Given the description of an element on the screen output the (x, y) to click on. 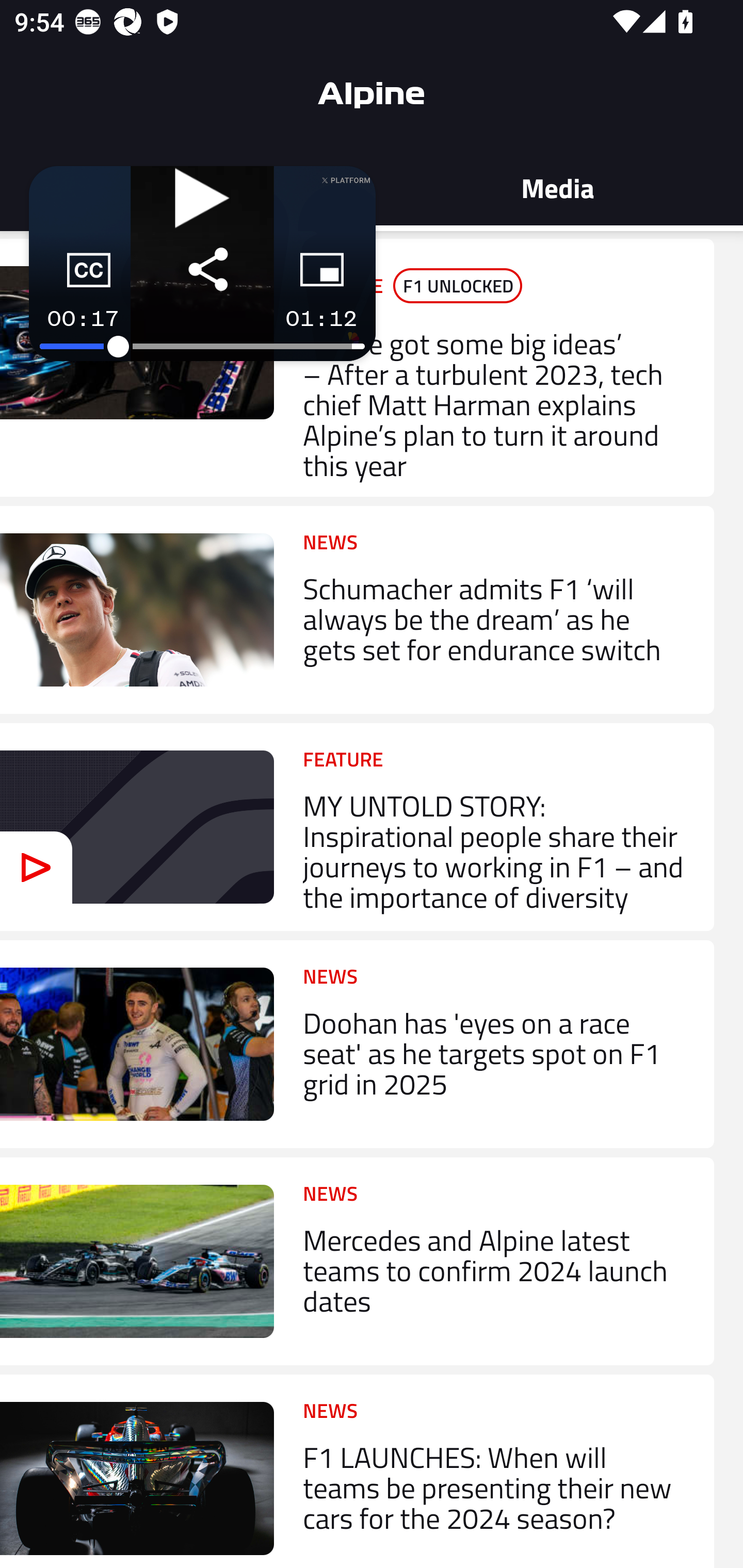
Stats (185, 187)
Video - Icon (36, 867)
